Given the description of an element on the screen output the (x, y) to click on. 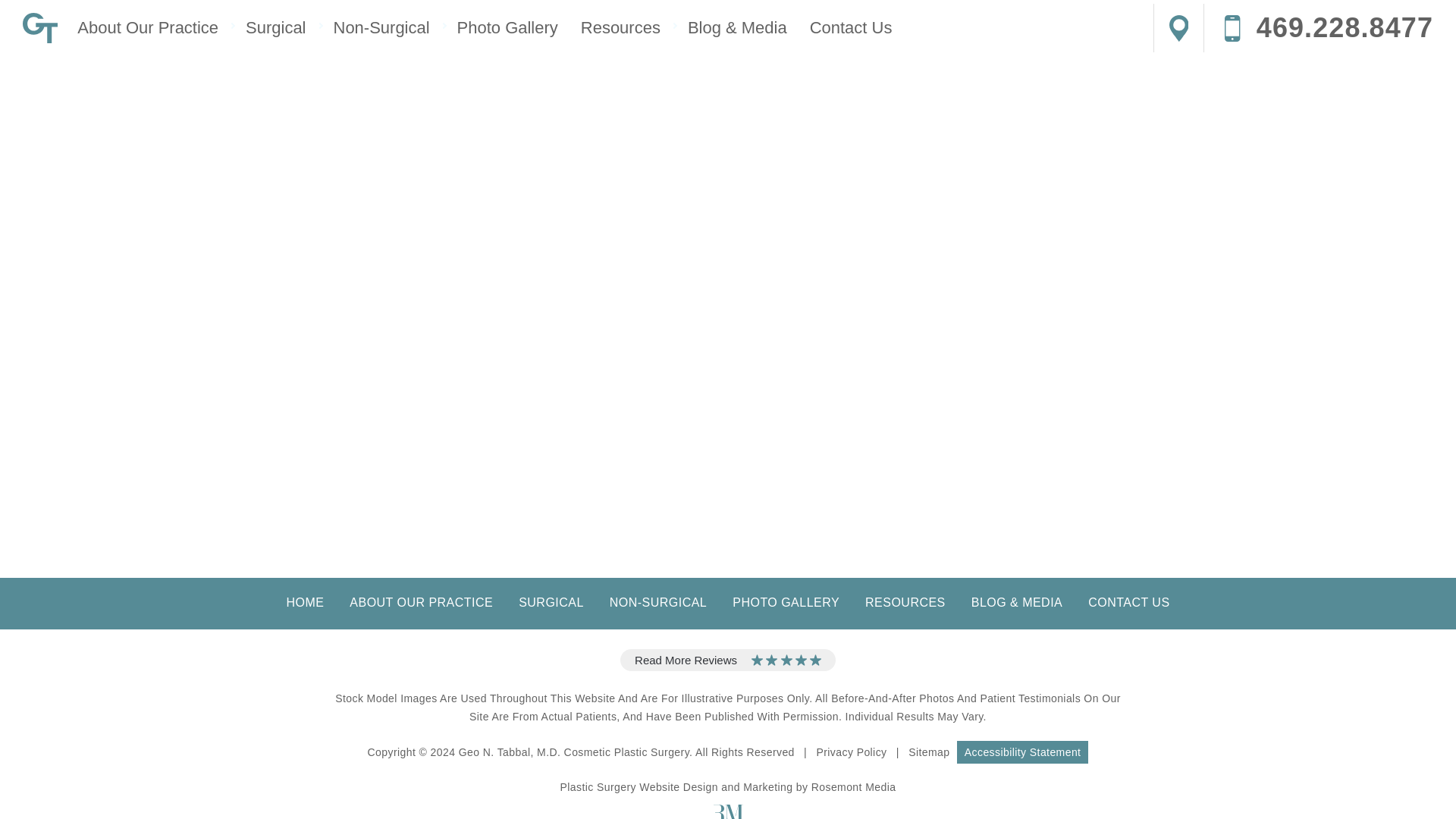
Sitemap (928, 752)
